Given the description of an element on the screen output the (x, y) to click on. 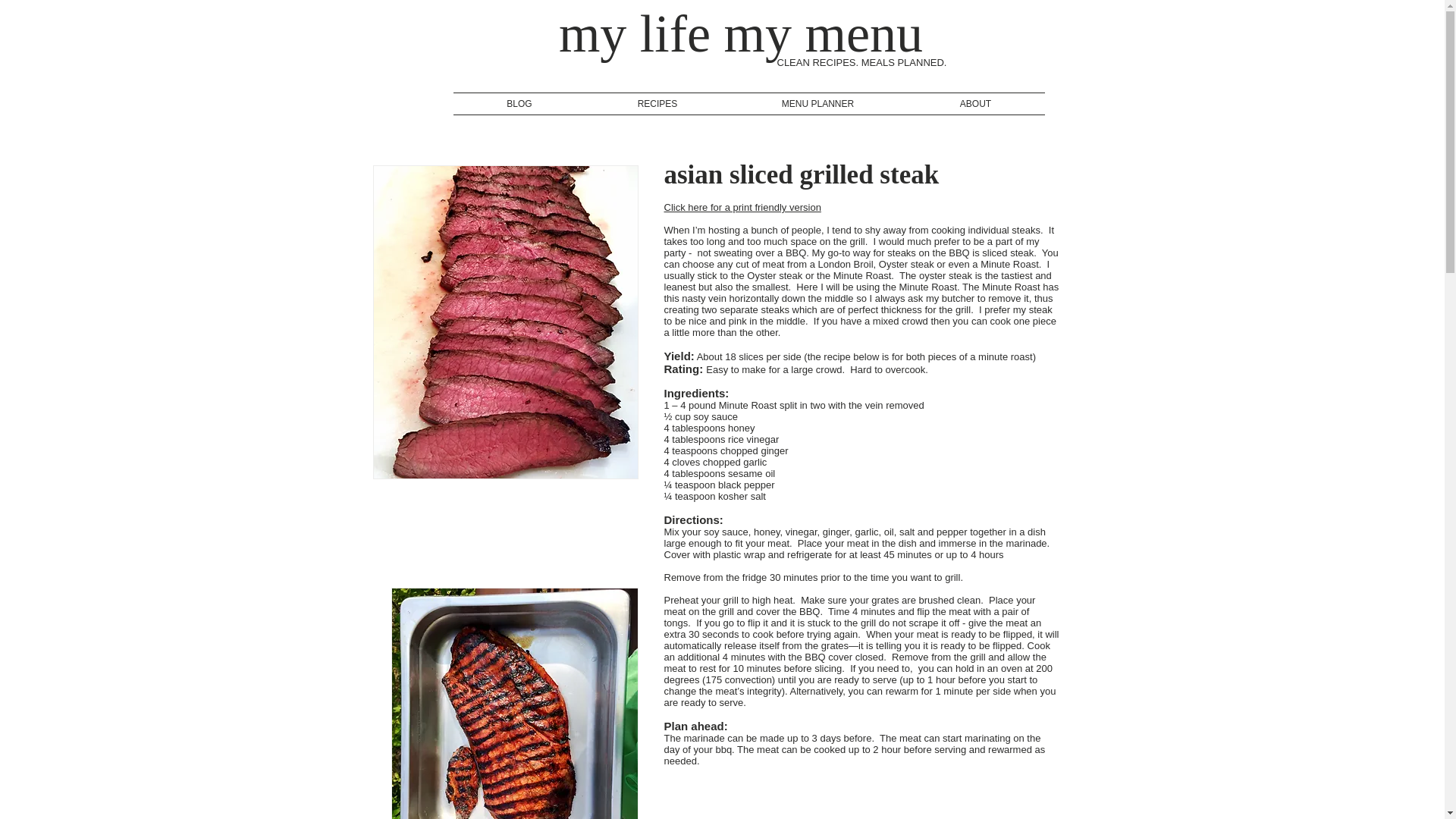
Click here for a print friendly version (742, 206)
ABOUT (976, 103)
RECIPES (657, 103)
BLOG (519, 103)
